Given the description of an element on the screen output the (x, y) to click on. 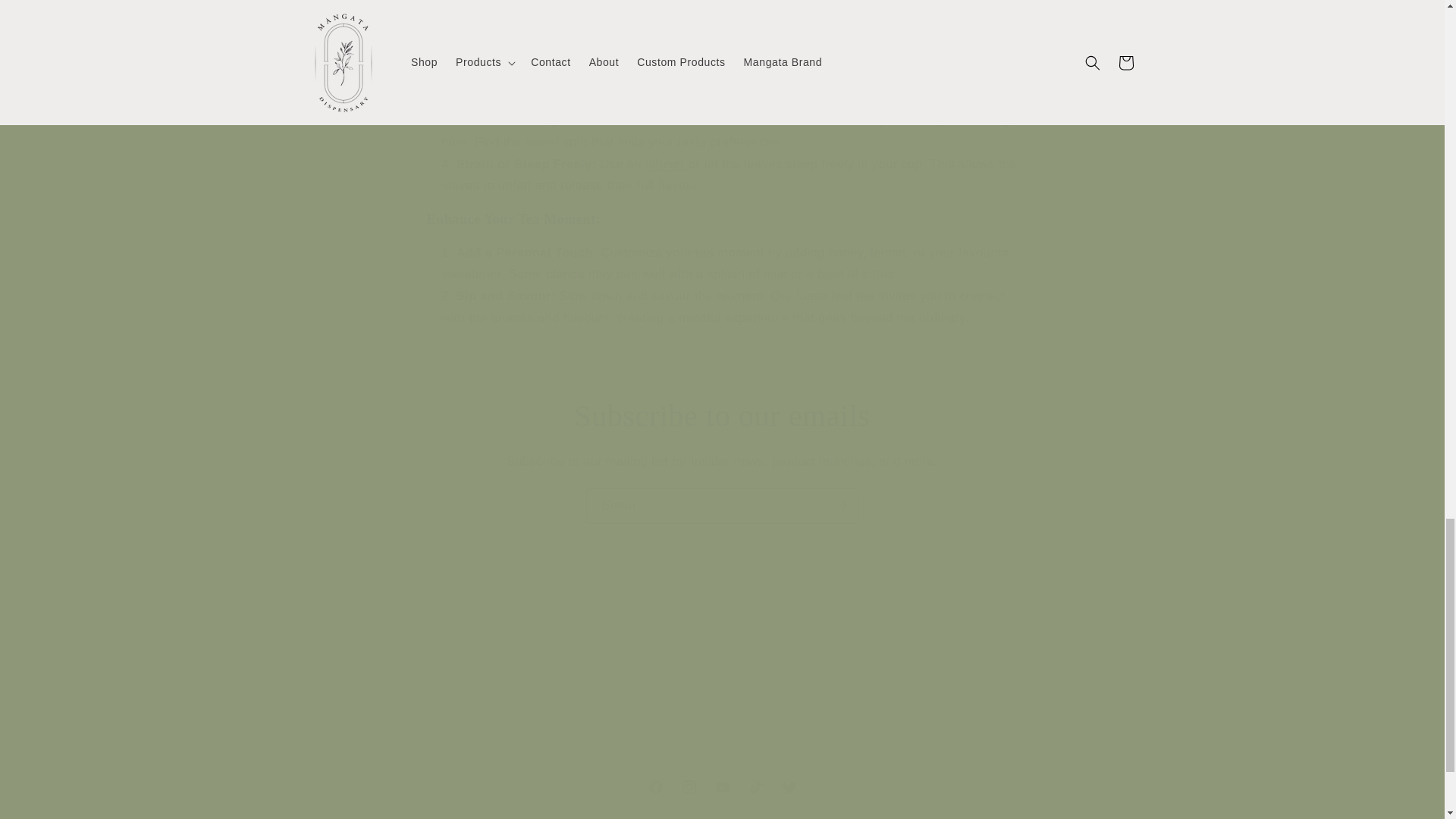
Subscribe to our emails (721, 415)
Tea Dispenser (827, 667)
Email (664, 164)
